Given the description of an element on the screen output the (x, y) to click on. 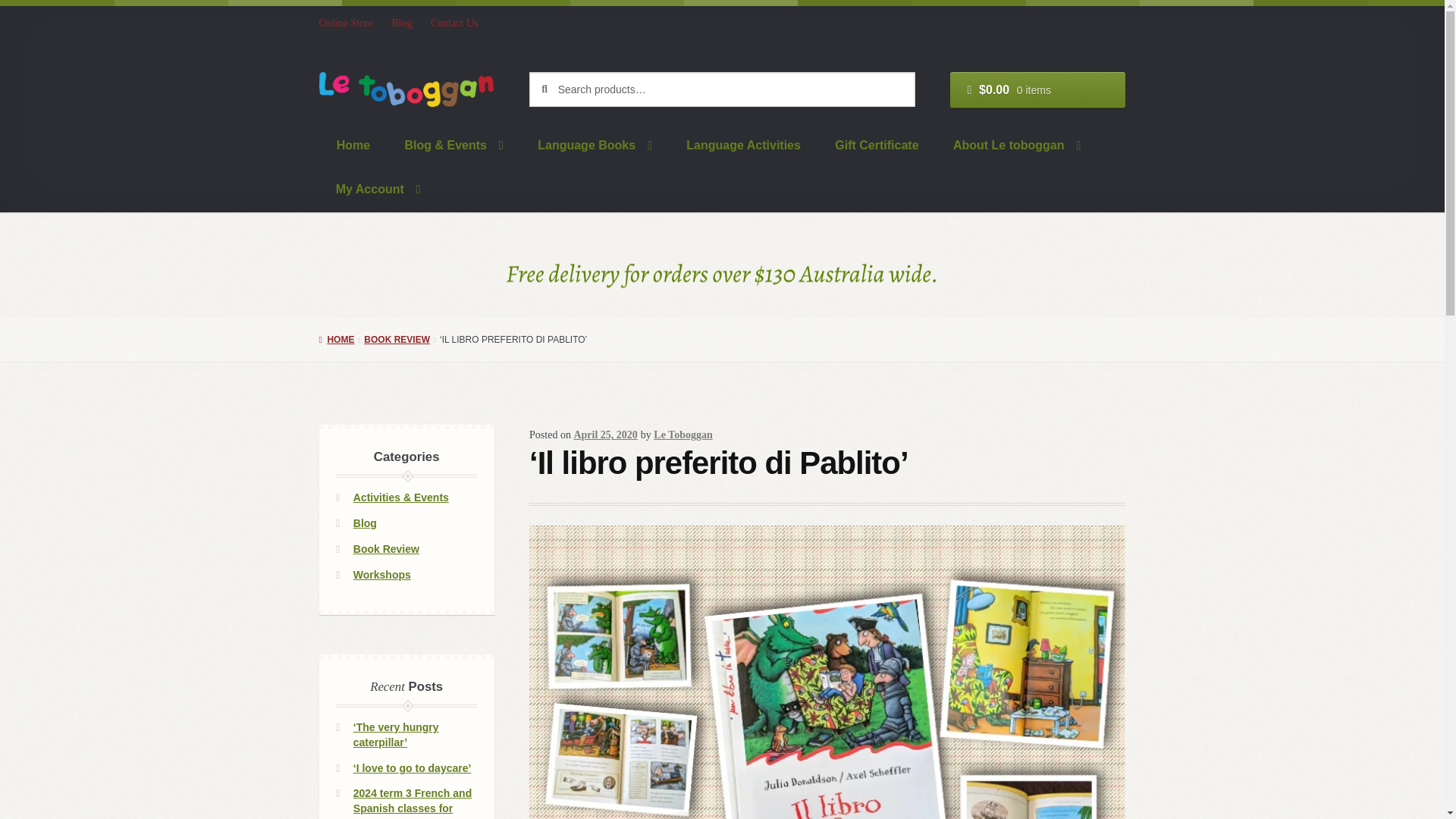
View your shopping cart (1037, 90)
Blog (401, 23)
Contact Us (454, 23)
Gift Certificate (877, 145)
Online Store (349, 23)
Language Books (595, 145)
Home (353, 145)
About Le toboggan (1017, 145)
Language Activities (743, 145)
